Given the description of an element on the screen output the (x, y) to click on. 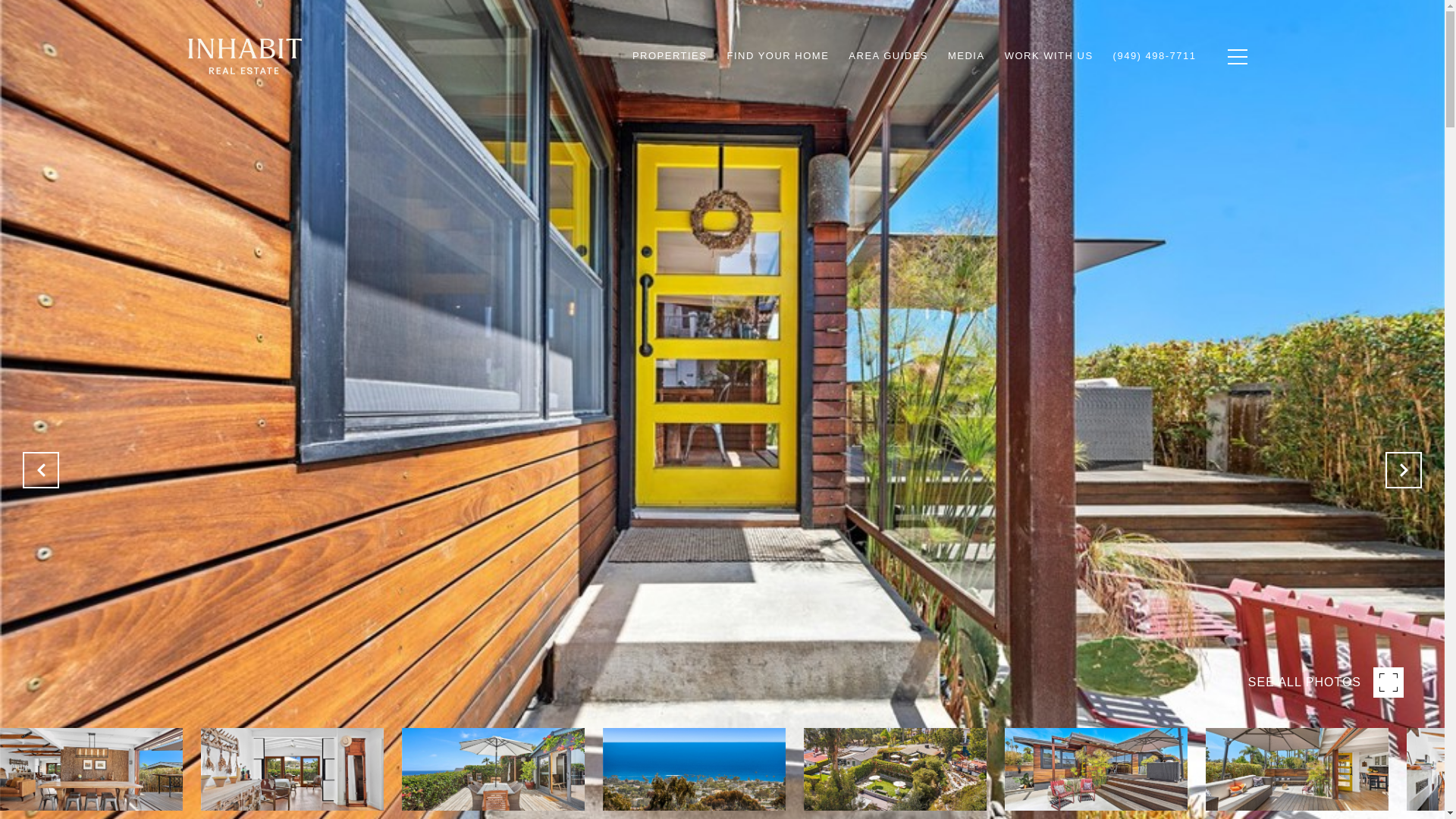
FIND YOUR HOME (777, 55)
PROPERTIES (670, 55)
MEDIA (965, 55)
WORK WITH US (1048, 55)
AREA GUIDES (887, 55)
